Given the description of an element on the screen output the (x, y) to click on. 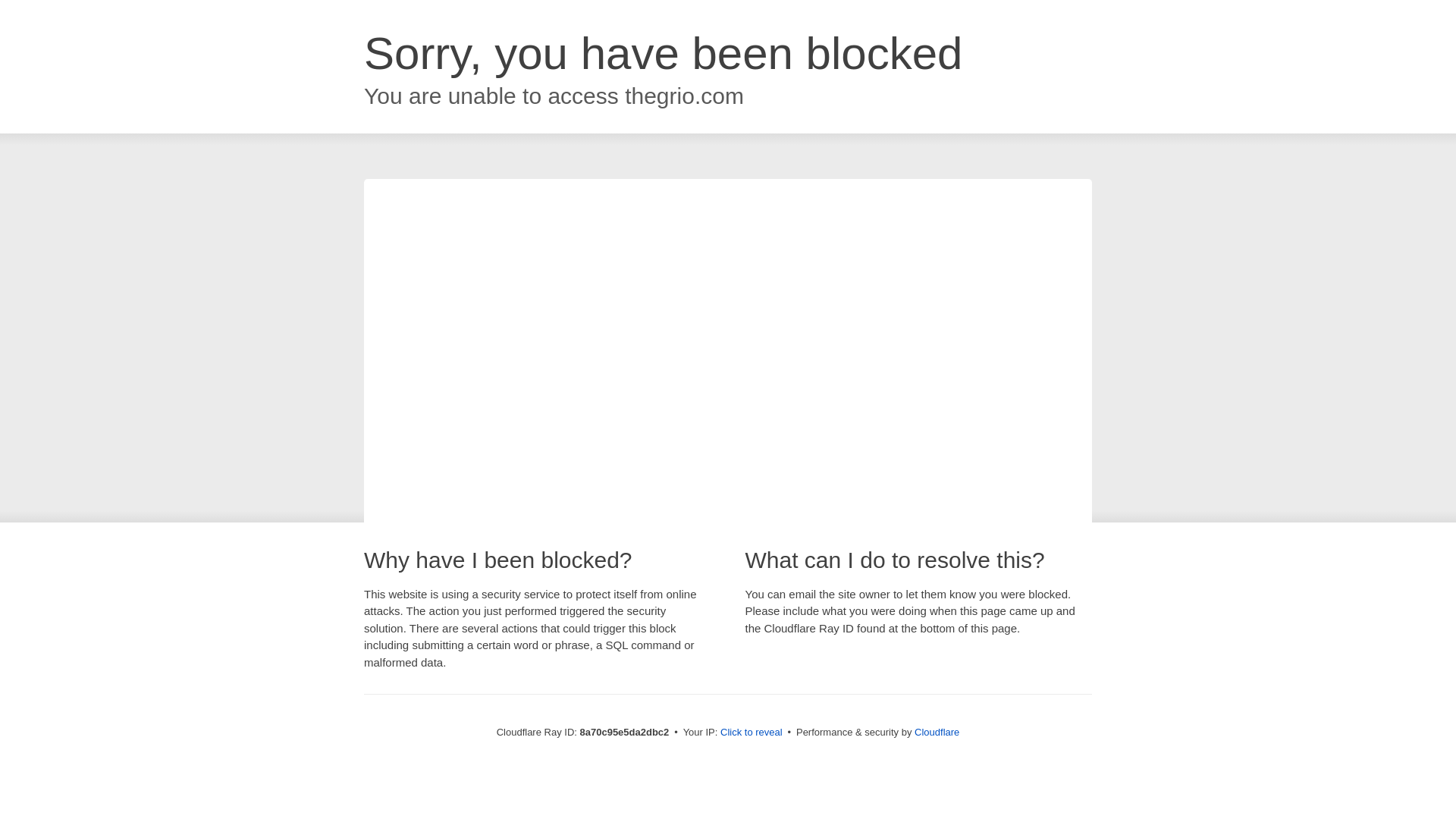
Cloudflare (936, 731)
Click to reveal (751, 732)
